Given the description of an element on the screen output the (x, y) to click on. 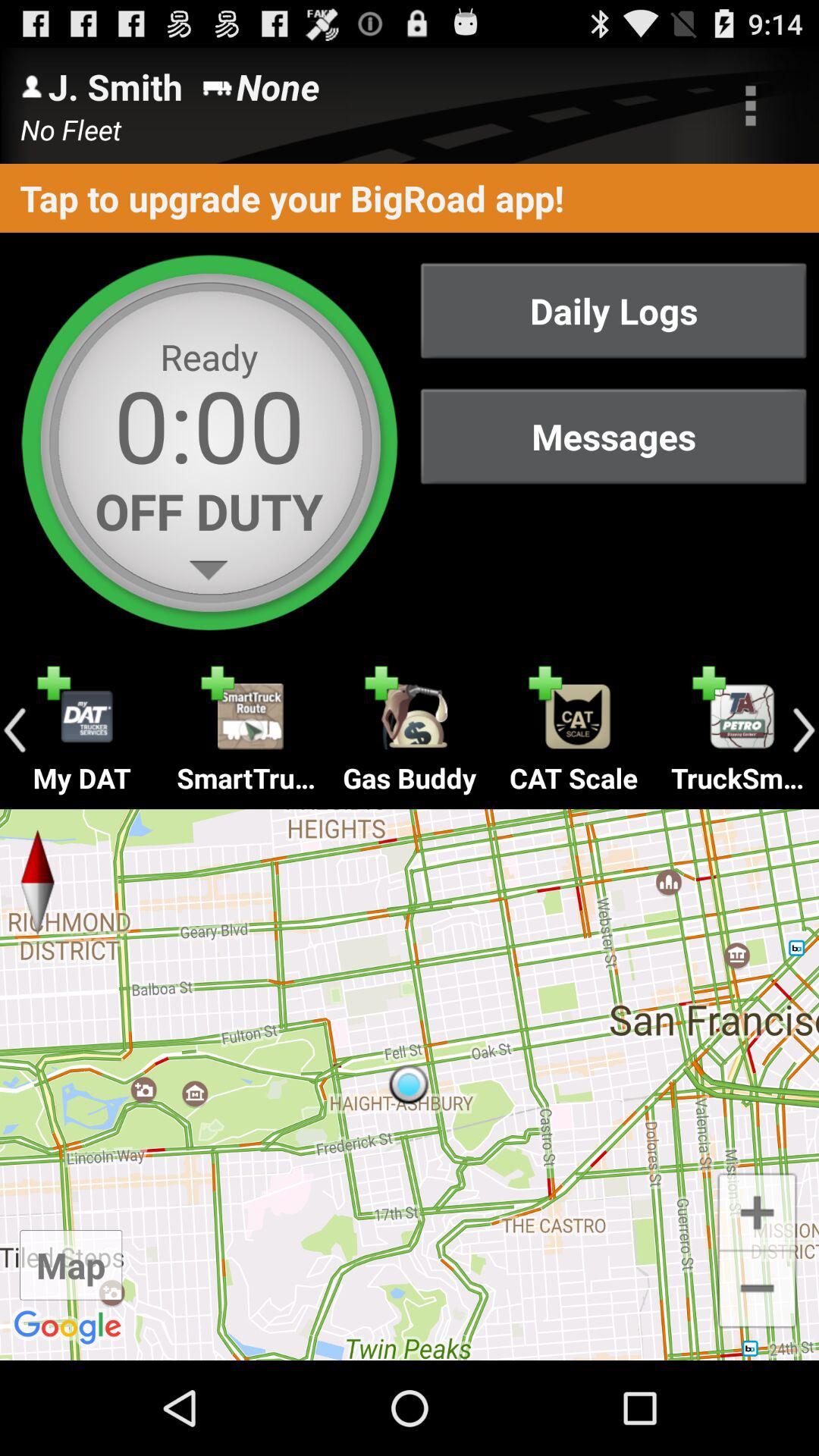
click the item above the tap to upgrade item (750, 105)
